Given the description of an element on the screen output the (x, y) to click on. 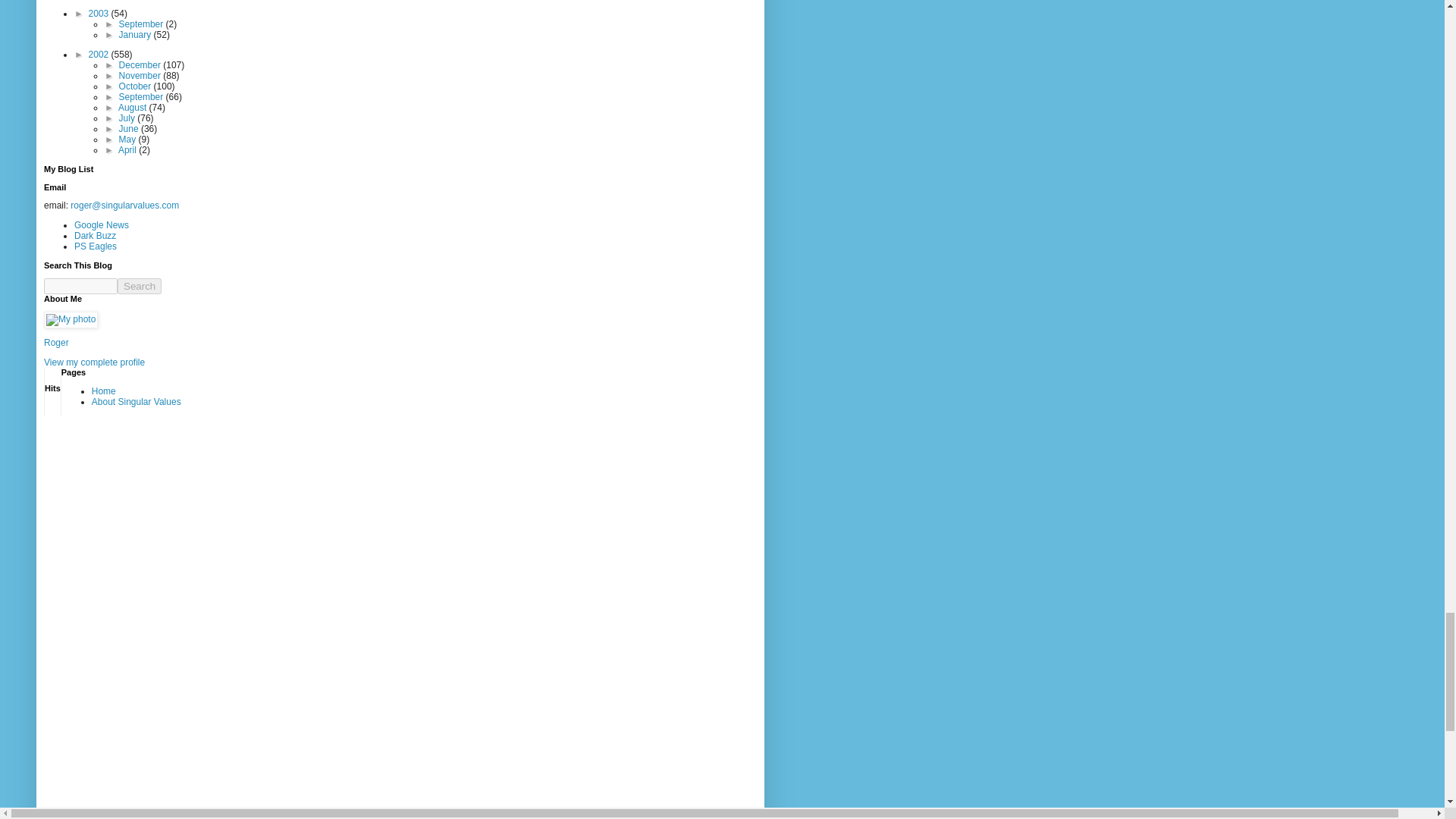
Search (139, 286)
Search (139, 286)
search (80, 286)
search (139, 286)
